Given the description of an element on the screen output the (x, y) to click on. 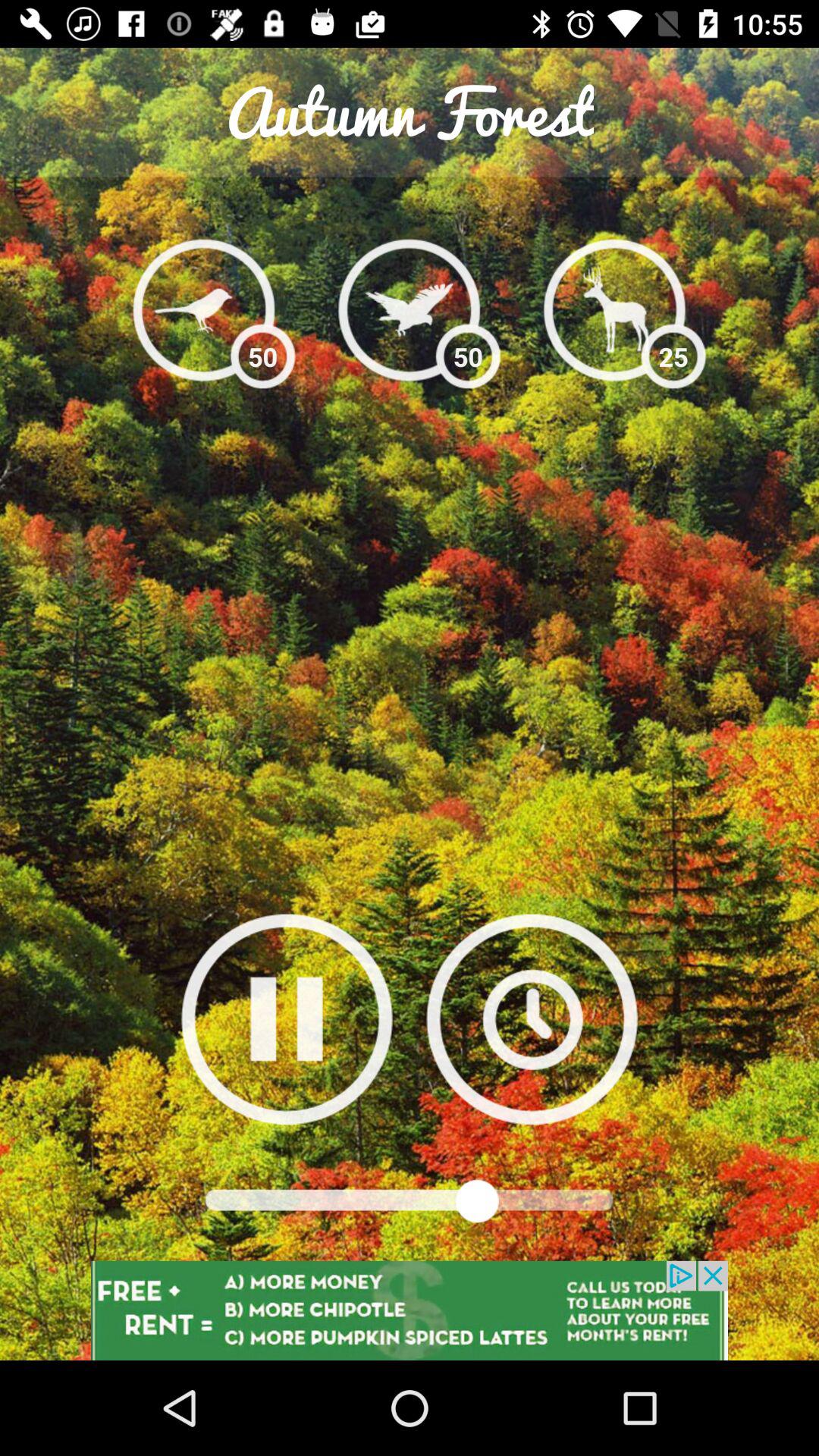
bird icon (408, 309)
